Given the description of an element on the screen output the (x, y) to click on. 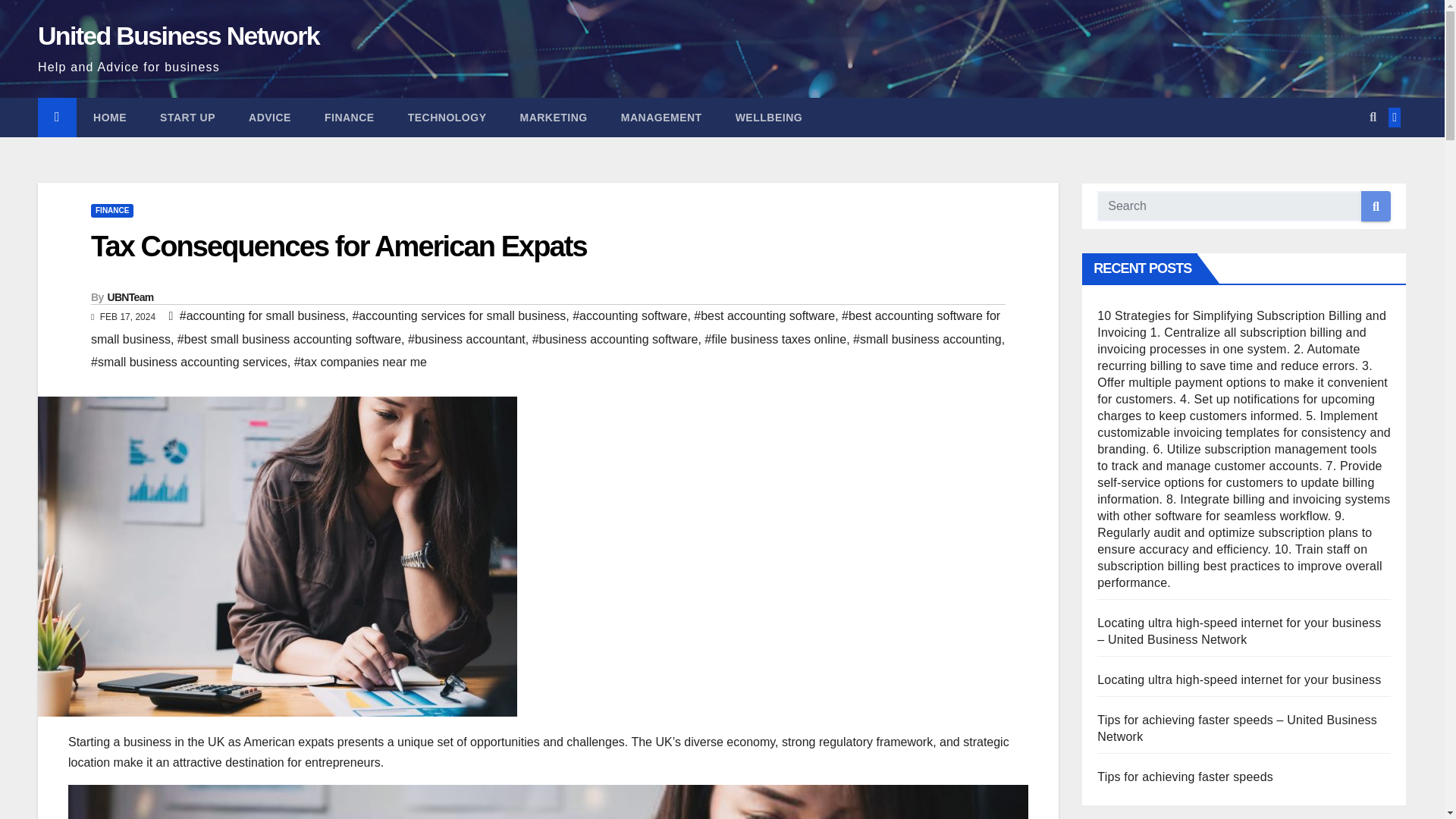
Finance (349, 117)
Wellbeing (769, 117)
MARKETING (553, 117)
Management (661, 117)
Advice (269, 117)
Technology (447, 117)
ADVICE (269, 117)
FINANCE (349, 117)
Permalink to: Tax Consequences for American Expats (338, 246)
United Business Network (177, 35)
Marketing (553, 117)
START UP (186, 117)
WELLBEING (769, 117)
TECHNOLOGY (447, 117)
MANAGEMENT (661, 117)
